Given the description of an element on the screen output the (x, y) to click on. 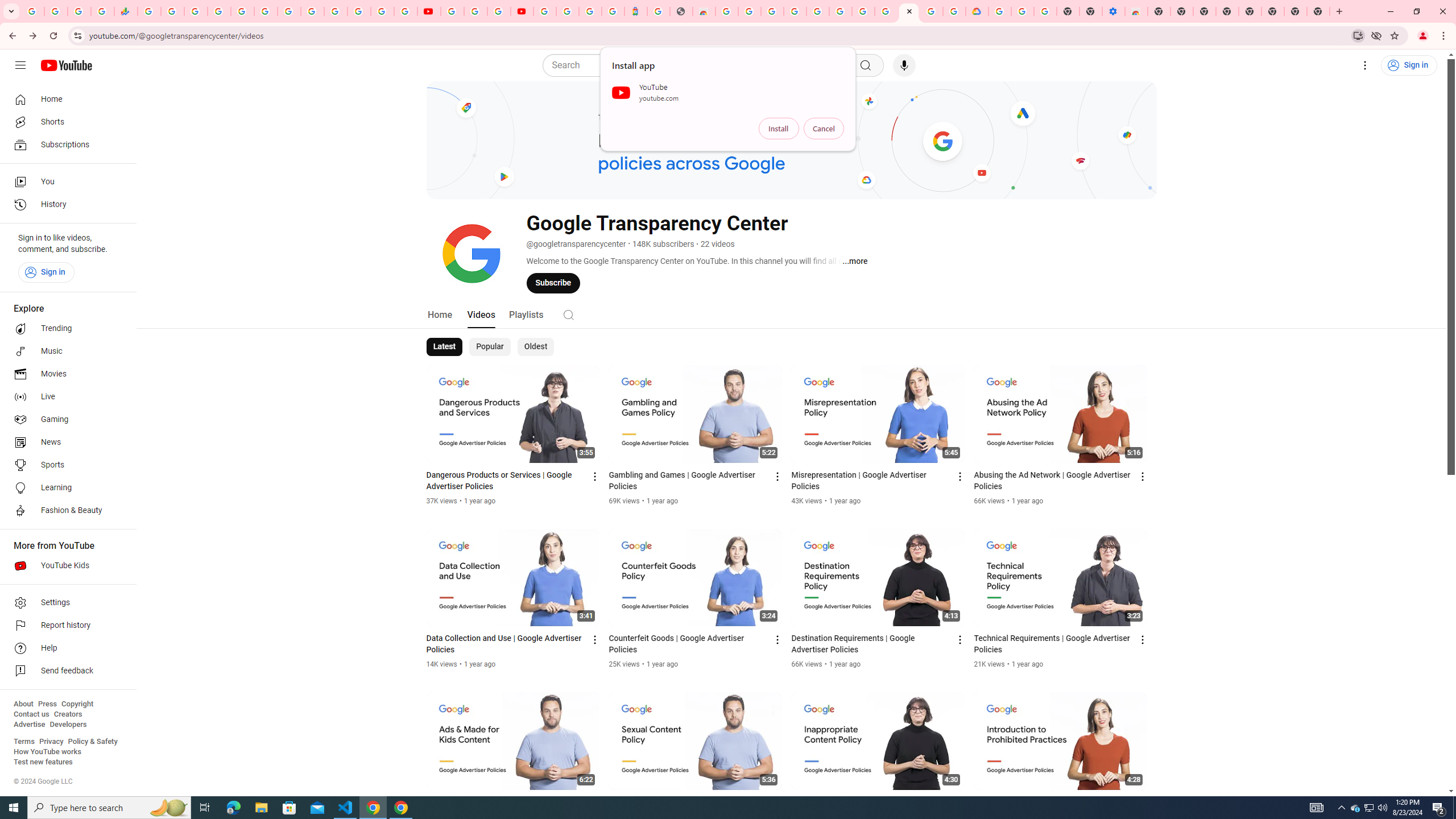
Oldest (534, 346)
Google Account Help (1022, 11)
Videos (481, 314)
Movies (64, 373)
Privacy Checkup (405, 11)
How YouTube works (47, 751)
Settings - Accessibility (1113, 11)
Home (440, 314)
Subscribe (552, 282)
